Given the description of an element on the screen output the (x, y) to click on. 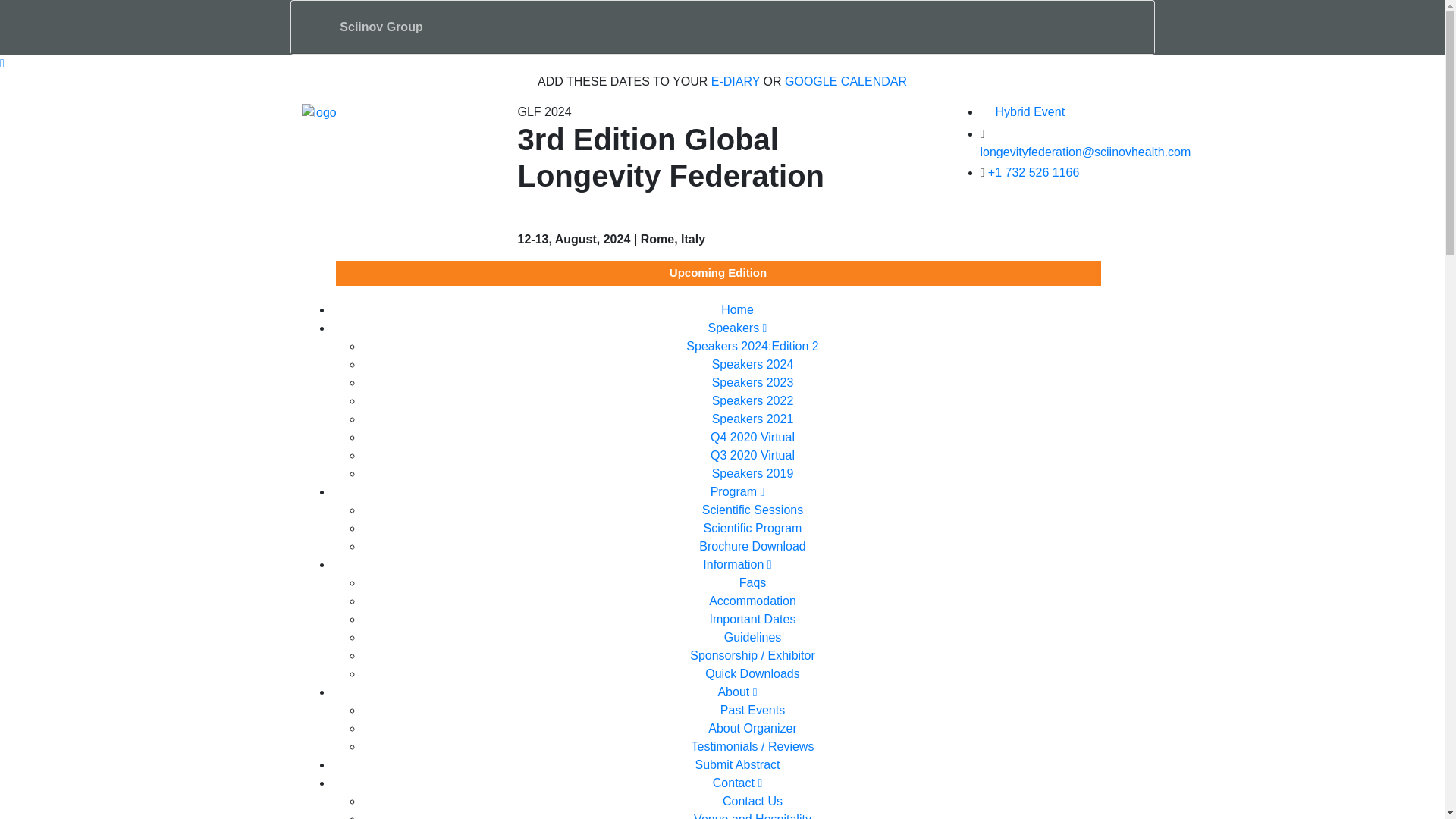
Program (737, 491)
Contact (737, 782)
Q3 2020 Virtual (752, 454)
Speakers 2022 (752, 400)
Submit Abstract (736, 764)
Brochure Download (752, 545)
Sciinov Group (381, 26)
Speakers (737, 327)
Speakers 2021 (752, 418)
Scientific Sessions (752, 509)
Upcoming Edition (718, 272)
Speakers 2019 (752, 472)
Accommodation (752, 600)
About (737, 691)
Information (737, 563)
